Given the description of an element on the screen output the (x, y) to click on. 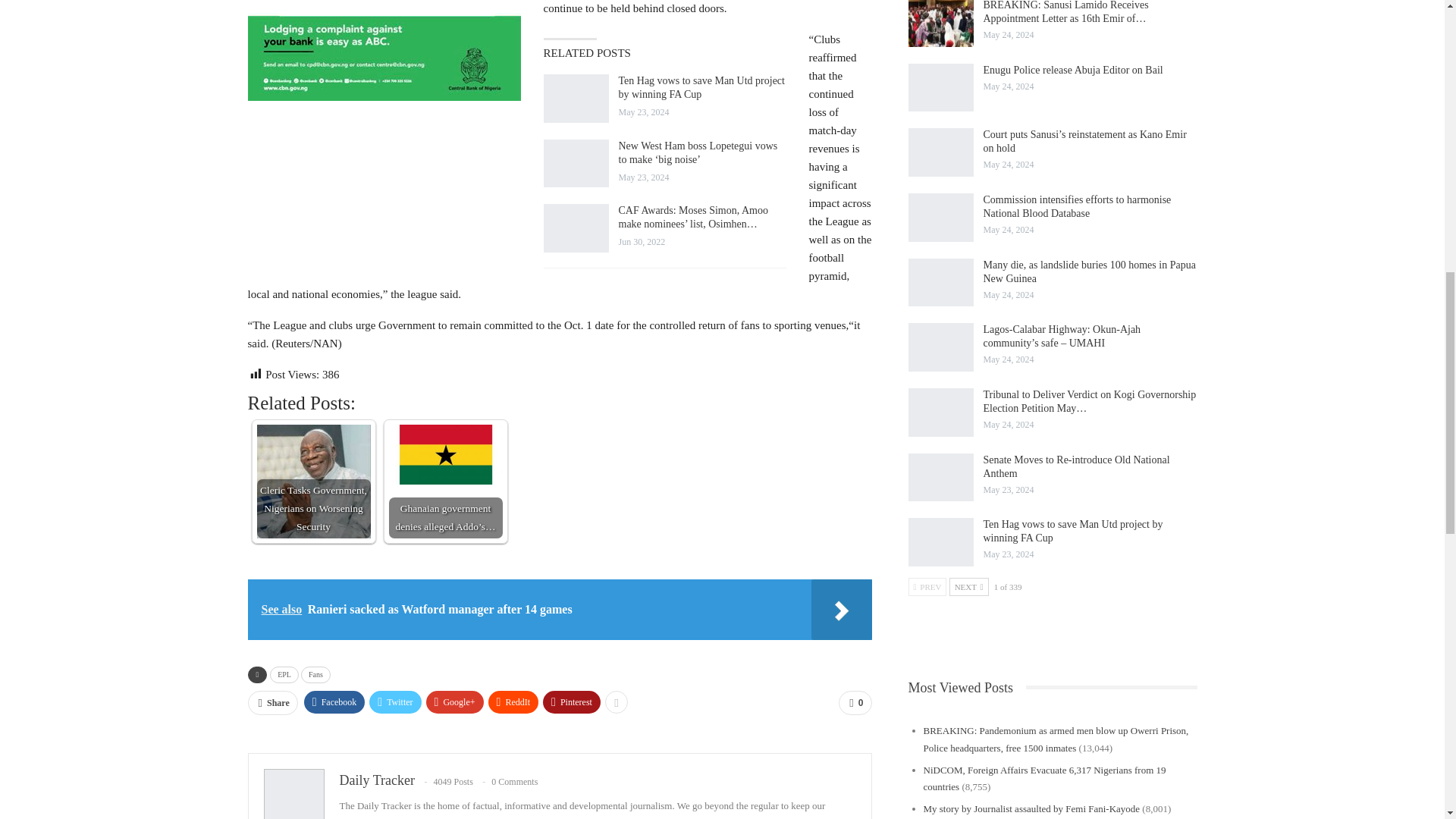
Cleric Tasks Government, Nigerians on Worsening Security (312, 481)
Ten Hag vows to save Man Utd project by winning FA Cup (575, 98)
